Given the description of an element on the screen output the (x, y) to click on. 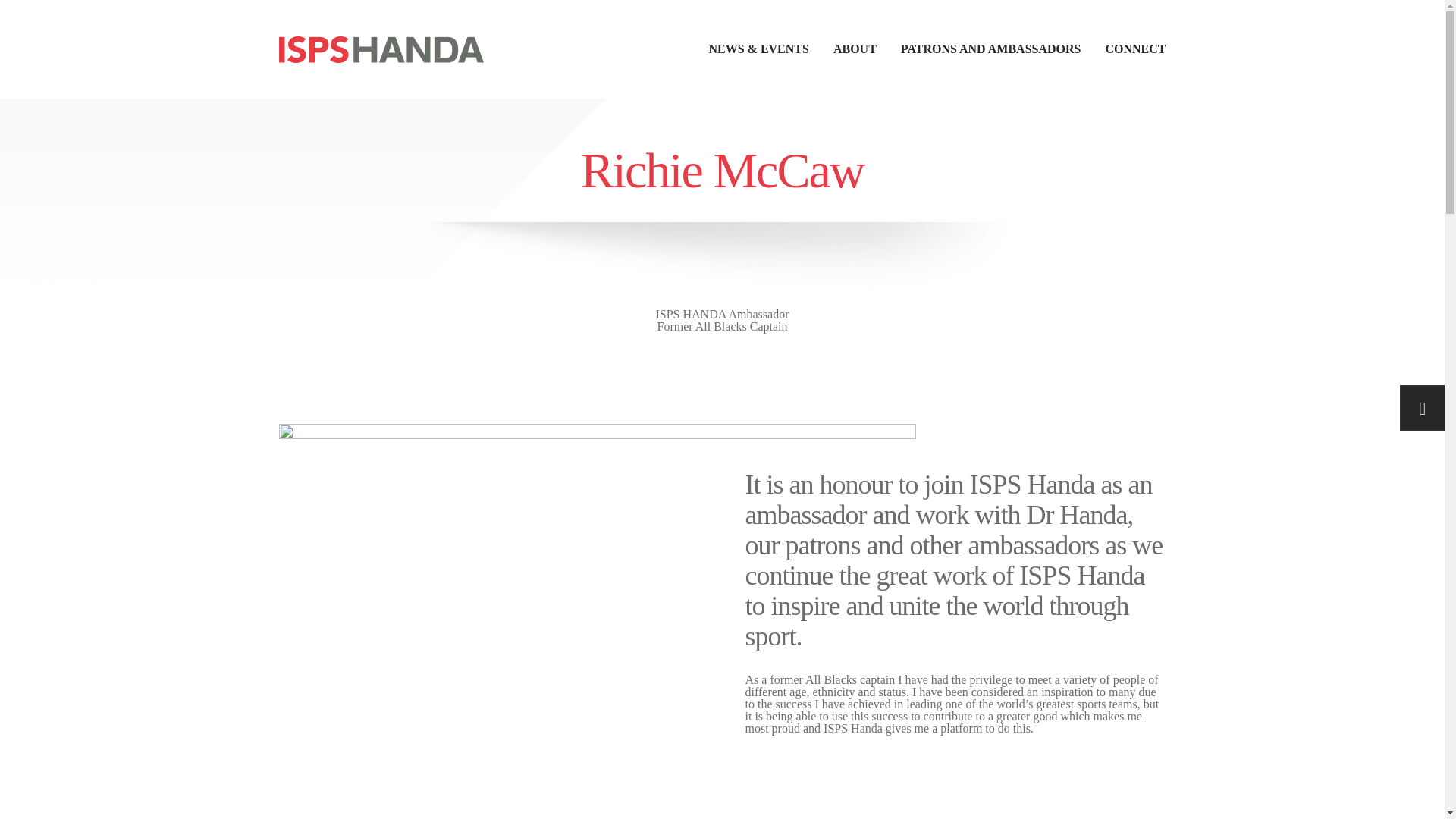
PATRONS AND AMBASSADORS (978, 49)
